Given the description of an element on the screen output the (x, y) to click on. 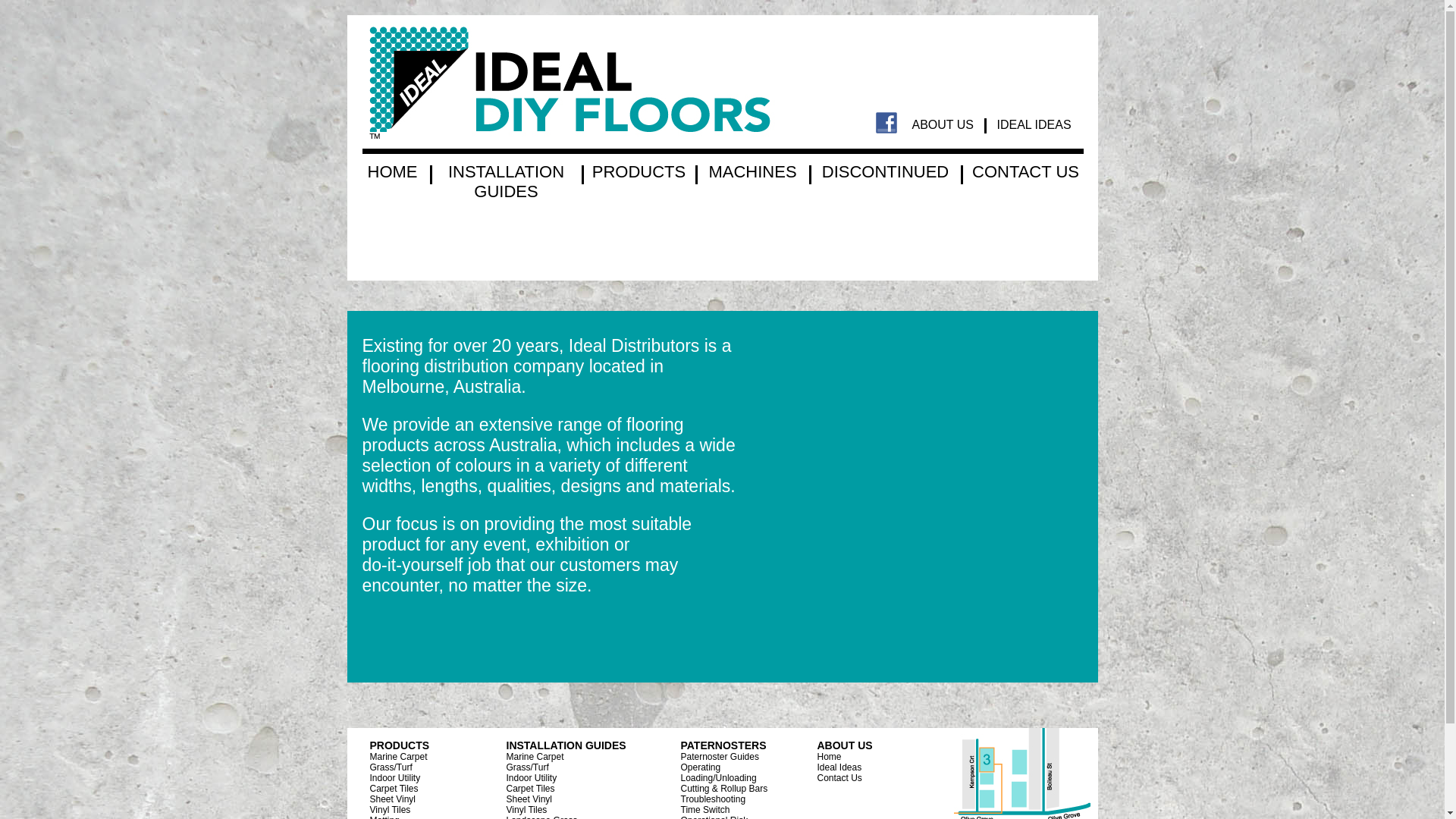
PRODUCTS Element type: text (399, 745)
PATERNOSTERS Element type: text (723, 744)
Loading/Unloading Element type: text (718, 776)
Marine Carpet Element type: text (398, 755)
Vinyl Tiles Element type: text (526, 808)
Vinyl Tiles Element type: text (390, 808)
ABOUT US Element type: text (844, 745)
HOME Element type: text (392, 171)
Paternoster Guides Element type: text (719, 755)
Troubleshooting Element type: text (713, 797)
Cutting & Rollup Bars Element type: text (724, 787)
Carpet Tiles Element type: text (530, 787)
Grass/Turf Element type: text (391, 765)
Operating Element type: text (700, 765)
INSTALLATION GUIDES Element type: text (566, 745)
Ideal Ideas Element type: text (839, 765)
MACHINES Element type: text (752, 171)
Home Element type: text (829, 756)
Indoor Utility Element type: text (531, 776)
PRODUCTS Element type: text (638, 171)
Time Switch Element type: text (705, 808)
Sheet Vinyl Element type: text (393, 797)
Contact Us Element type: text (839, 777)
CONTACT US Element type: text (1025, 171)
DISCONTINUED Element type: text (885, 171)
Sheet Vinyl Element type: text (529, 797)
IDEAL IDEAS Element type: text (1033, 124)
Carpet Tiles Element type: text (394, 787)
Indoor Utility Element type: text (395, 776)
ABOUT US Element type: text (942, 124)
Grass/Turf Element type: text (527, 765)
Marine Carpet Element type: text (535, 755)
INSTALLATION GUIDES Element type: text (506, 181)
